Given the description of an element on the screen output the (x, y) to click on. 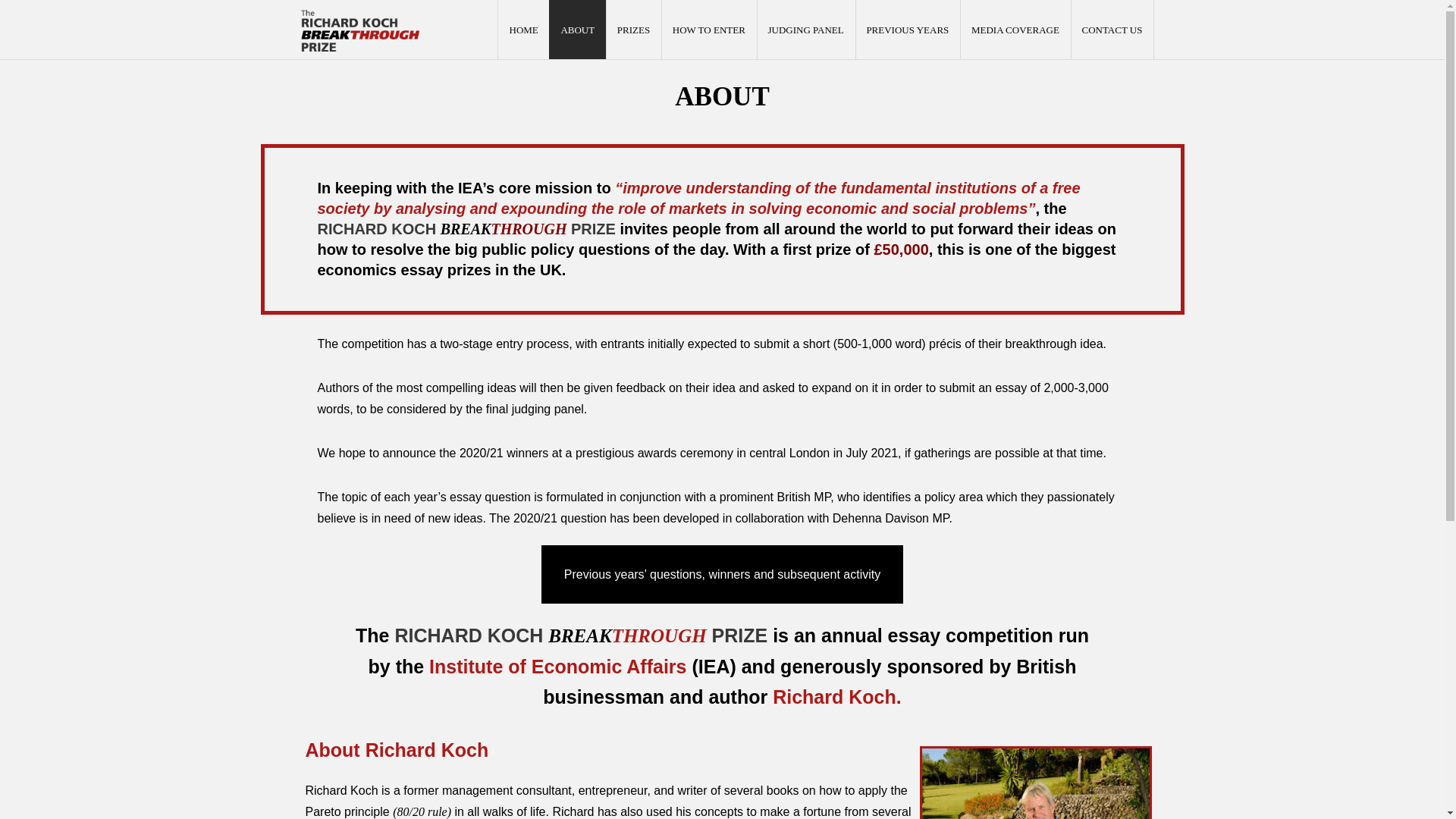
PRIZES (633, 29)
MEDIA COVERAGE (1014, 29)
Breakthrough Prize (358, 29)
JUDGING PANEL (804, 29)
HOW TO ENTER (709, 29)
CONTACT US (1112, 29)
ABOUT (576, 29)
PREVIOUS YEARS (906, 29)
